Given the description of an element on the screen output the (x, y) to click on. 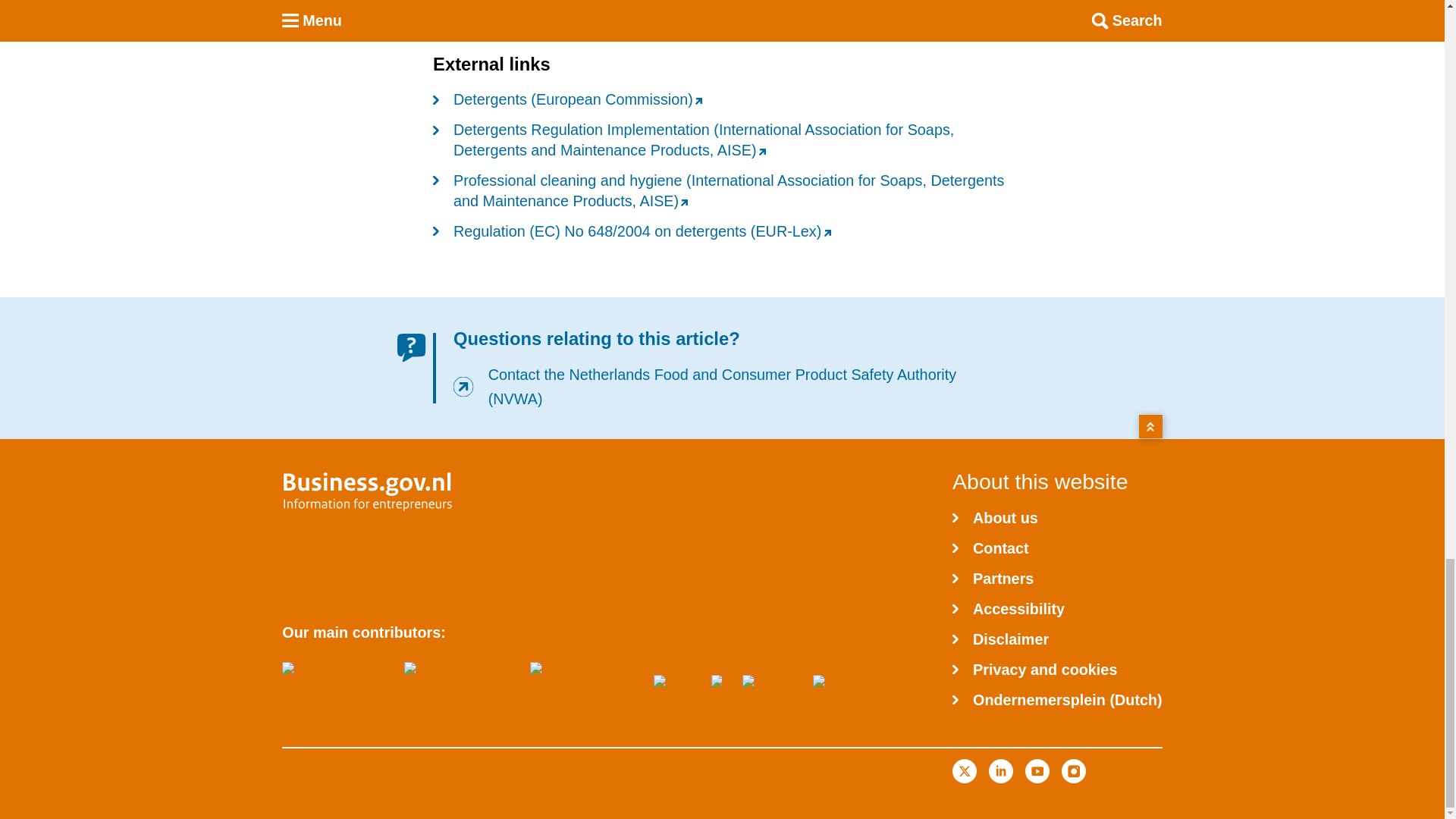
Accessibility (1008, 608)
About us (995, 517)
Disclaimer (1000, 638)
Contact (990, 547)
Privacy and cookies (1034, 669)
Partners (992, 578)
